Given the description of an element on the screen output the (x, y) to click on. 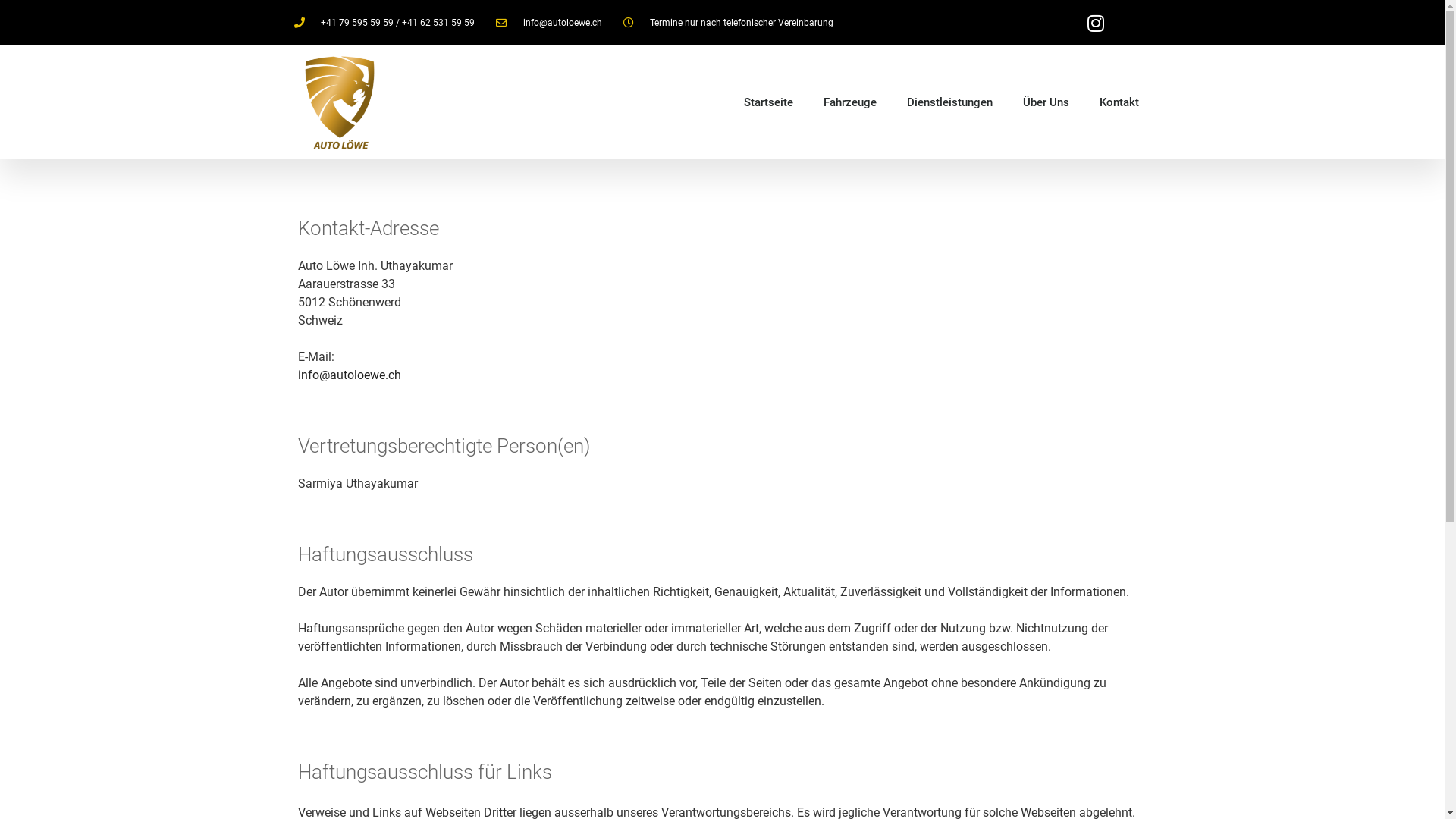
Dienstleistungen Element type: text (949, 102)
Fahrzeuge Element type: text (849, 102)
info@autoloewe.ch Element type: text (348, 374)
Kontakt Element type: text (1119, 102)
Startseite Element type: text (768, 102)
